Given the description of an element on the screen output the (x, y) to click on. 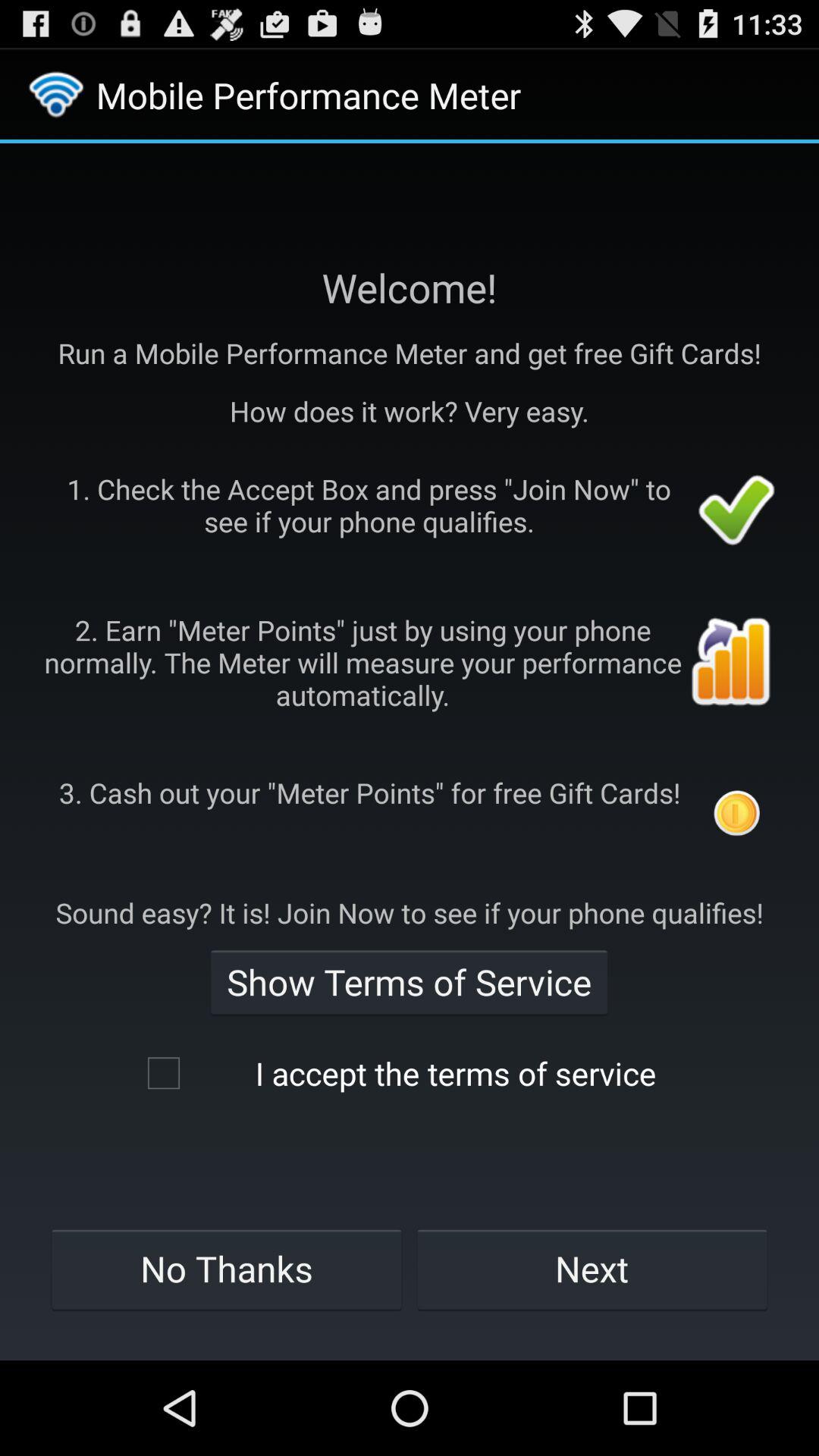
select the icon next to the no thanks button (592, 1268)
